Given the description of an element on the screen output the (x, y) to click on. 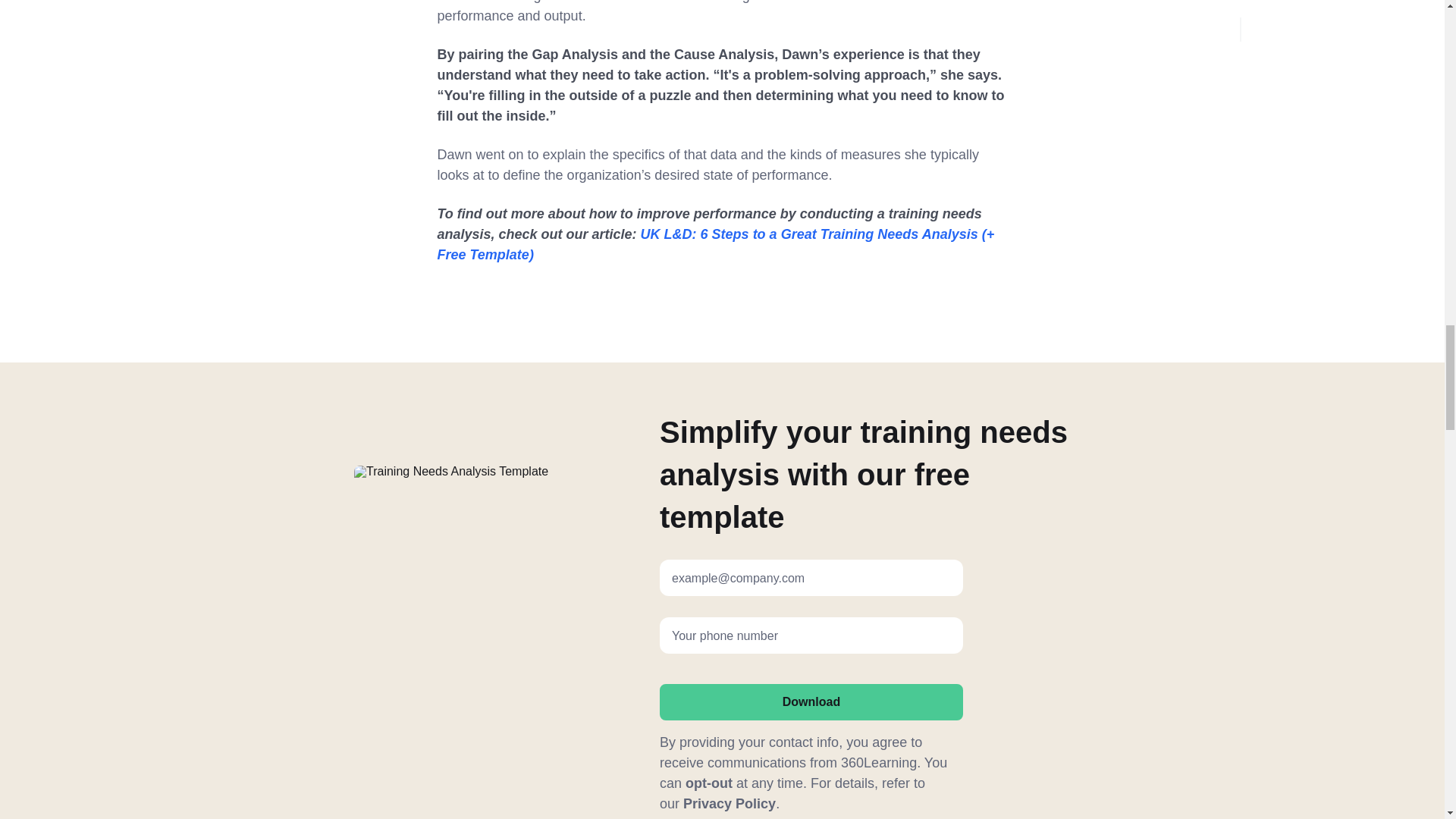
Privacy Policy (729, 803)
Download (810, 701)
opt-out (708, 783)
